Given the description of an element on the screen output the (x, y) to click on. 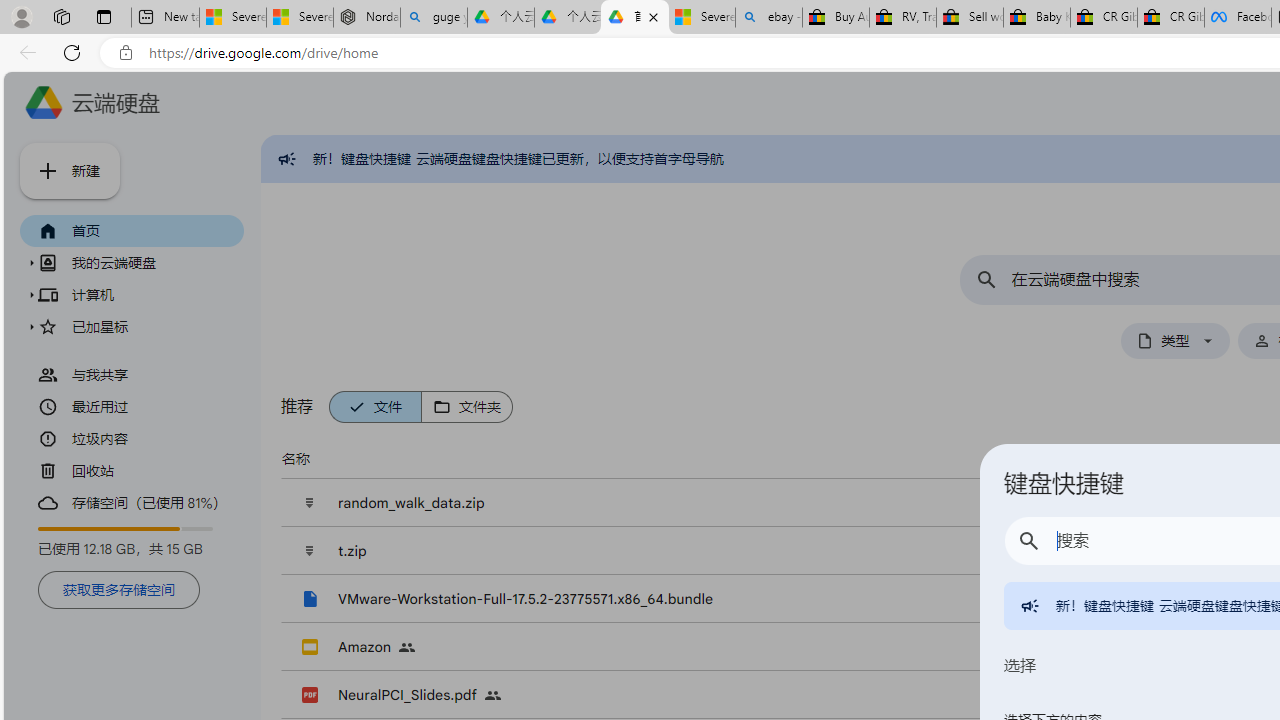
Sell worldwide with eBay (970, 17)
RV, Trailer & Camper Steps & Ladders for sale | eBay (902, 17)
Facebook (1237, 17)
Baby Keepsakes & Announcements for sale | eBay (1036, 17)
Buy Auto Parts & Accessories | eBay (835, 17)
guge yunpan - Search (433, 17)
